Given the description of an element on the screen output the (x, y) to click on. 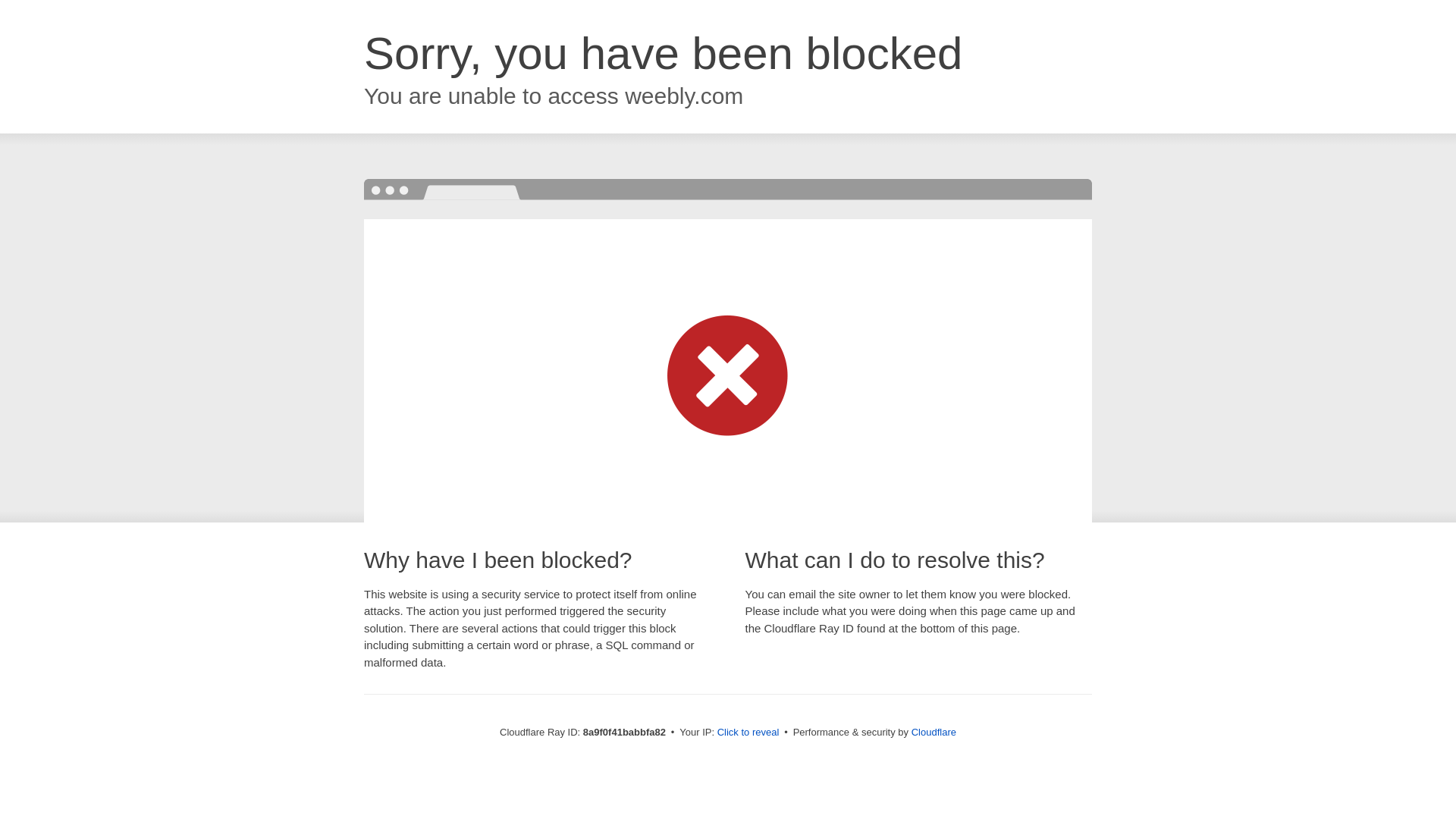
Cloudflare (933, 731)
Click to reveal (747, 732)
